Given the description of an element on the screen output the (x, y) to click on. 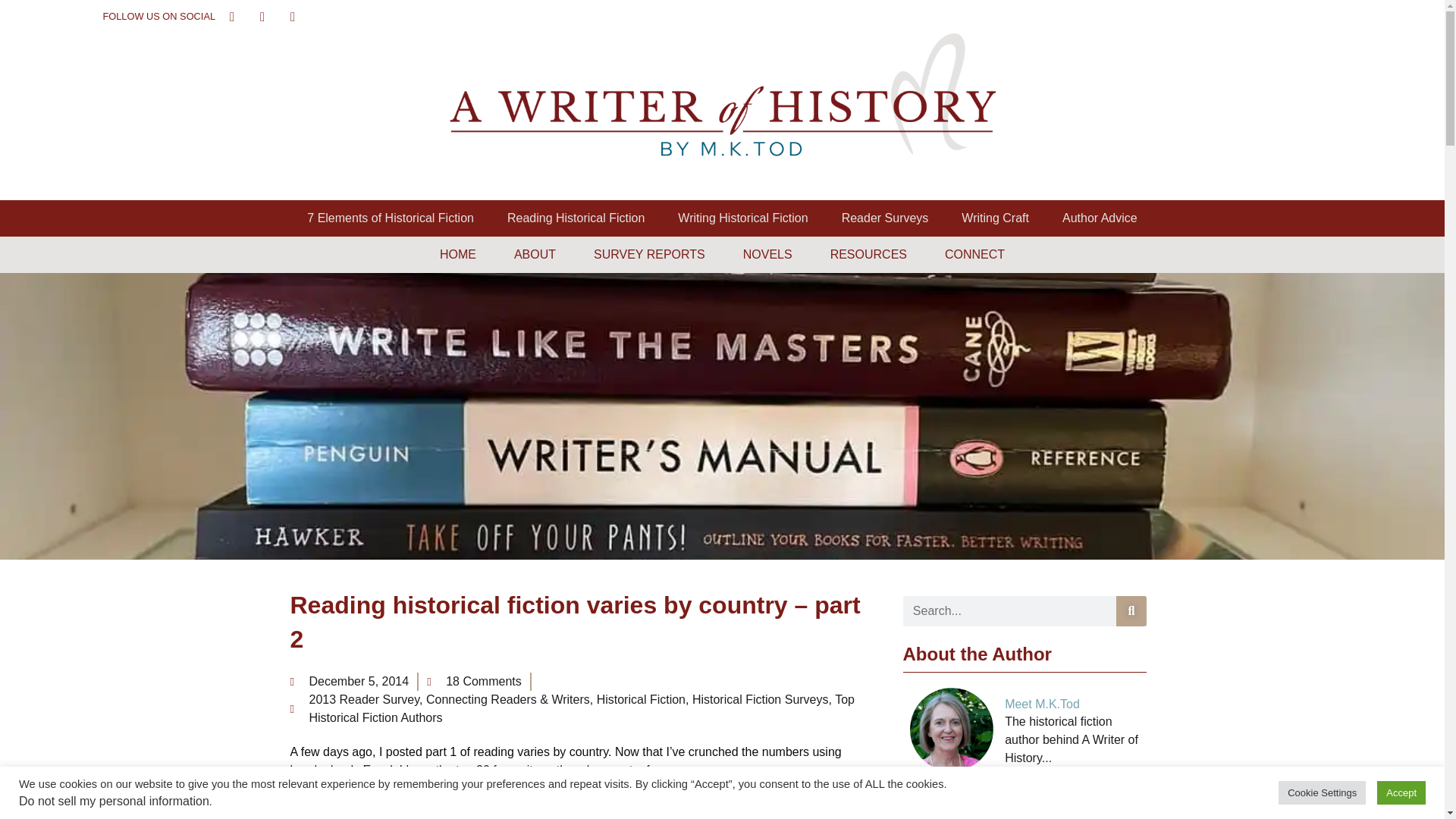
HOME (457, 254)
ABOUT (534, 254)
Reading Historical Fiction (575, 217)
7 Elements of Historical Fiction (389, 217)
RESOURCES (868, 254)
Historical Fiction Surveys (760, 698)
Reader Surveys (884, 217)
Writing Historical Fiction (742, 217)
2013 Reader Survey (364, 698)
Historical Fiction (640, 698)
